Given the description of an element on the screen output the (x, y) to click on. 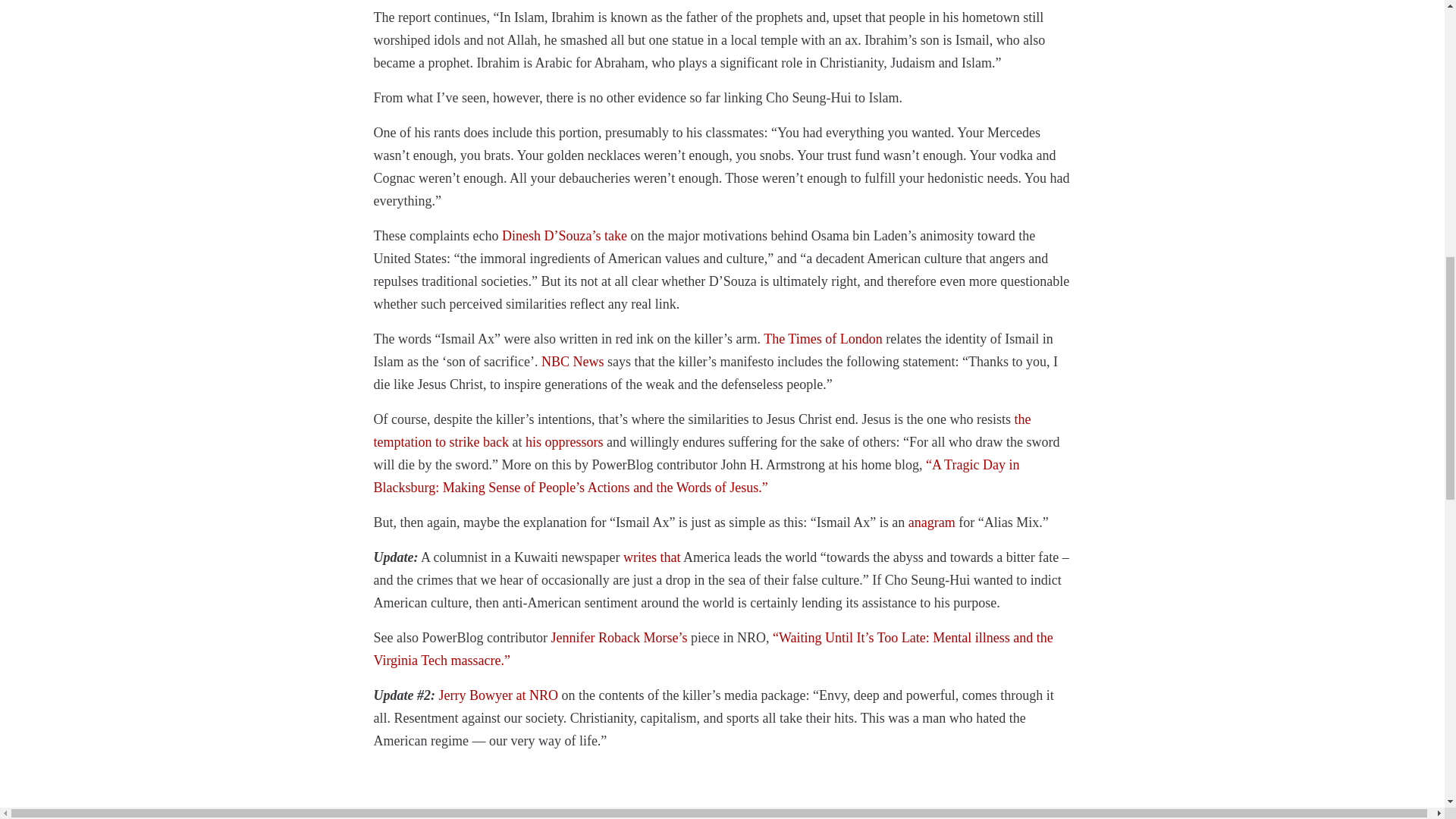
anagram (931, 521)
The Times of London (822, 337)
NBC News (572, 360)
writes that (651, 556)
the temptation to strike back (701, 429)
his oppressors (564, 441)
Jerry Bowyer at NRO (497, 694)
